Given the description of an element on the screen output the (x, y) to click on. 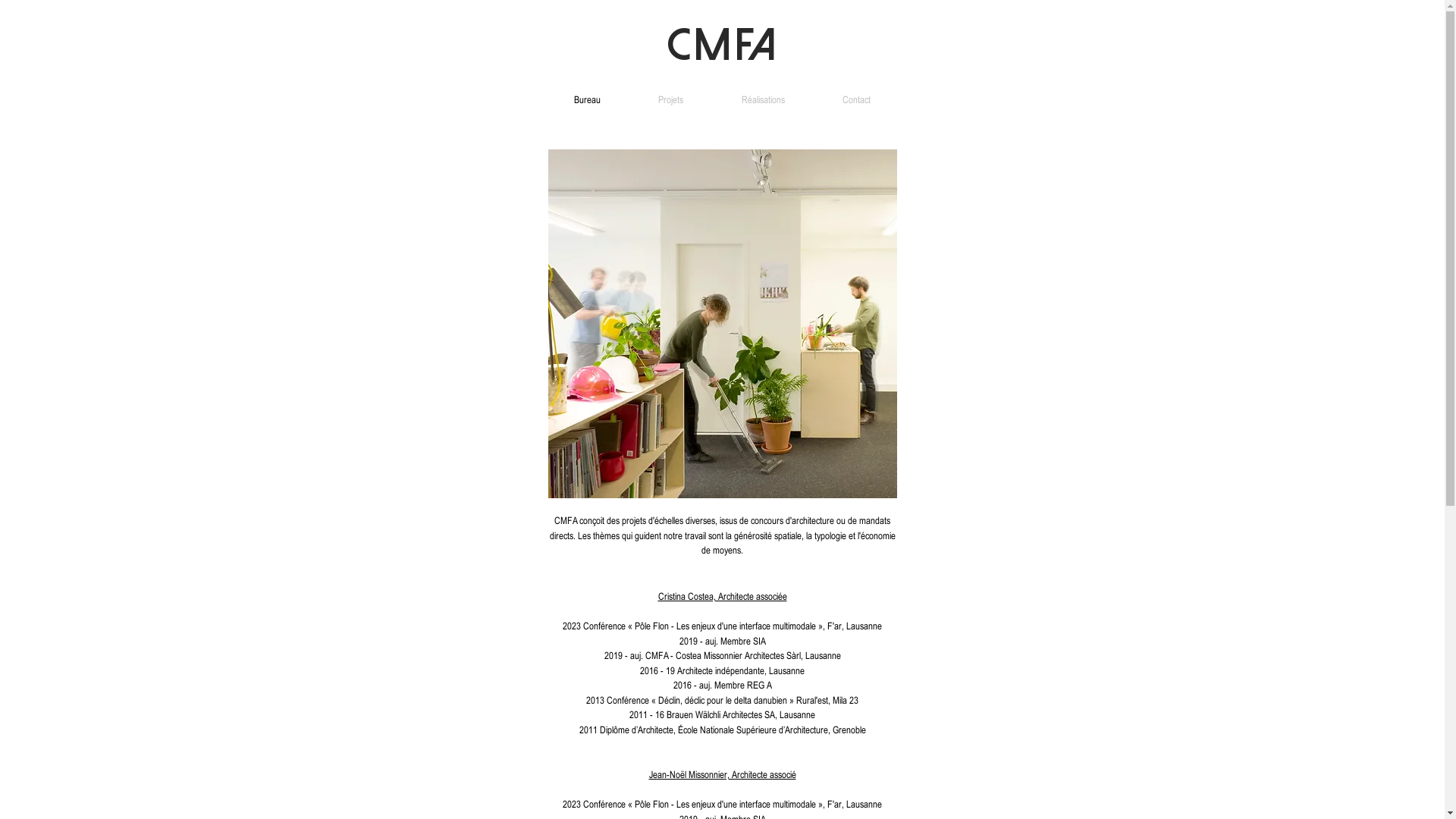
Contact Element type: text (856, 99)
Bureau Element type: text (586, 99)
Projets Element type: text (670, 99)
CMFA Element type: text (721, 44)
